Given the description of an element on the screen output the (x, y) to click on. 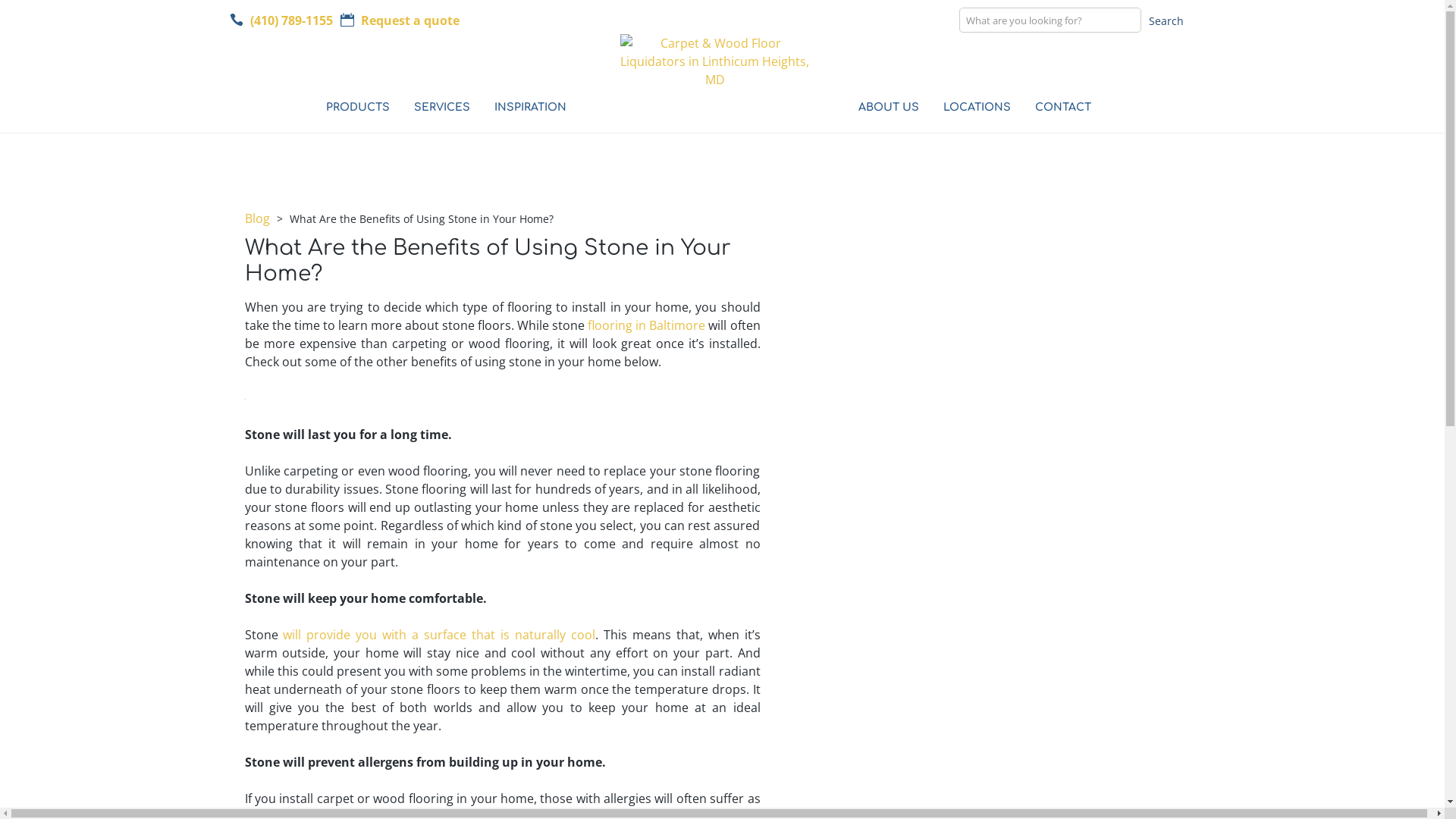
phone Element type: hover (222, 21)
LOCATIONS Element type: text (970, 109)
(410) 789-1155 Element type: text (289, 20)
(410) 789-1155 Element type: text (275, 22)
Request a quote Element type: text (394, 22)
will provide you with a surface that is naturally cool Element type: text (438, 634)
ABOUT US Element type: text (881, 109)
CONTACT Element type: text (1056, 109)
Search Element type: text (1165, 20)
Carpet & Wood Floor Liquidators in Linthicum Heights, MD Element type: hover (714, 61)
flooring in Baltimore Element type: text (646, 324)
phone Element type: hover (235, 19)
Request a quote Element type: text (408, 20)
estimate Element type: hover (332, 21)
SERVICES Element type: text (435, 109)
estimate Element type: hover (346, 19)
Blog Element type: text (258, 218)
INSPIRATION Element type: text (523, 109)
Search Element type: text (663, 21)
PRODUCTS Element type: text (351, 109)
